Given the description of an element on the screen output the (x, y) to click on. 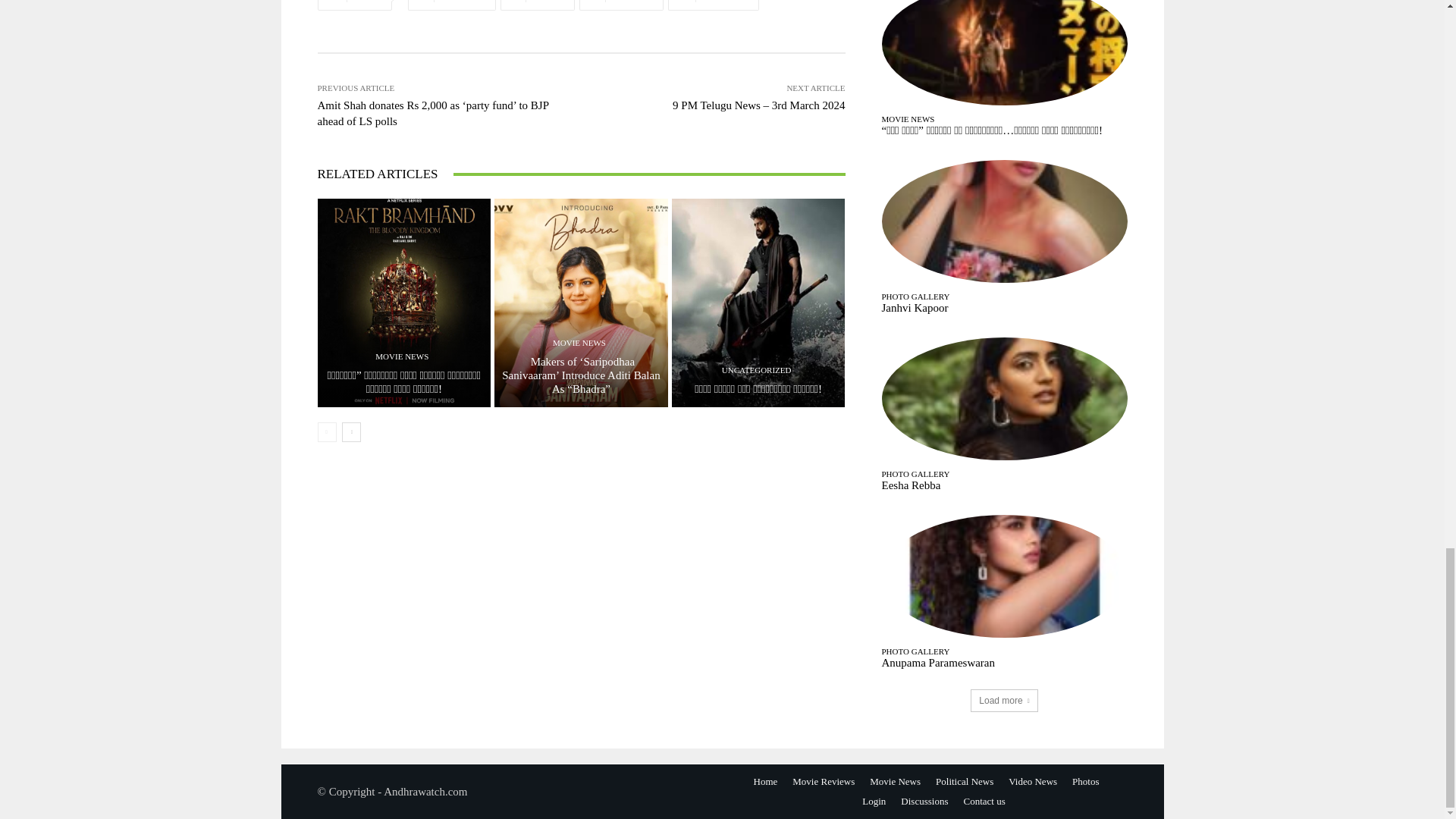
Facebook (451, 5)
